Given the description of an element on the screen output the (x, y) to click on. 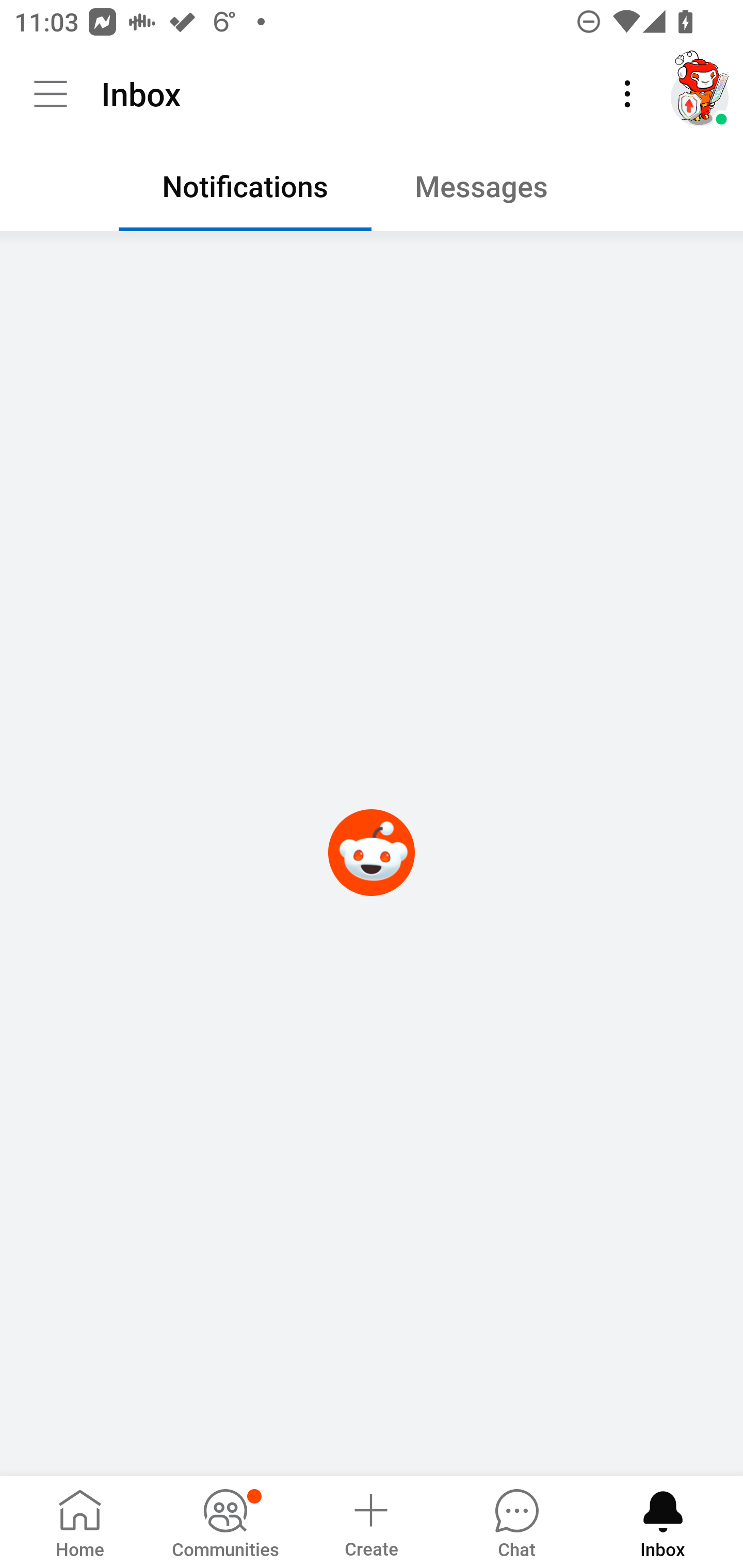
Community menu (50, 93)
More (626, 93)
TestAppium002 account (699, 93)
Messages (497, 191)
Home (80, 1520)
Communities, has notifications Communities (225, 1520)
Create a post Create (370, 1520)
Chat (516, 1520)
Inbox (662, 1520)
